Given the description of an element on the screen output the (x, y) to click on. 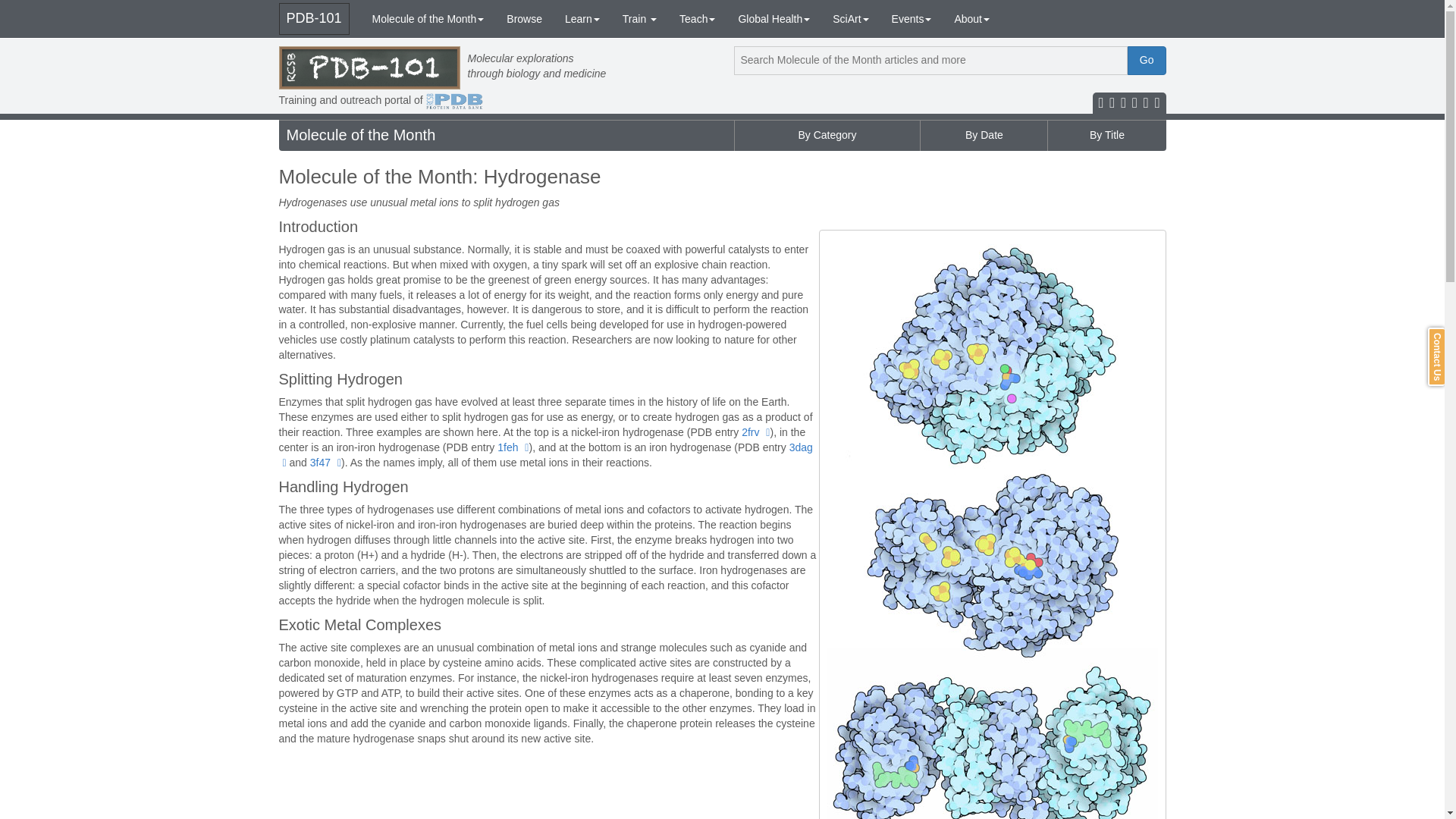
Teach (697, 18)
Learn (582, 18)
PDB-101 (314, 19)
Browse (524, 18)
Global Health (773, 18)
Molecule of the Month (428, 18)
Train (639, 18)
